Given the description of an element on the screen output the (x, y) to click on. 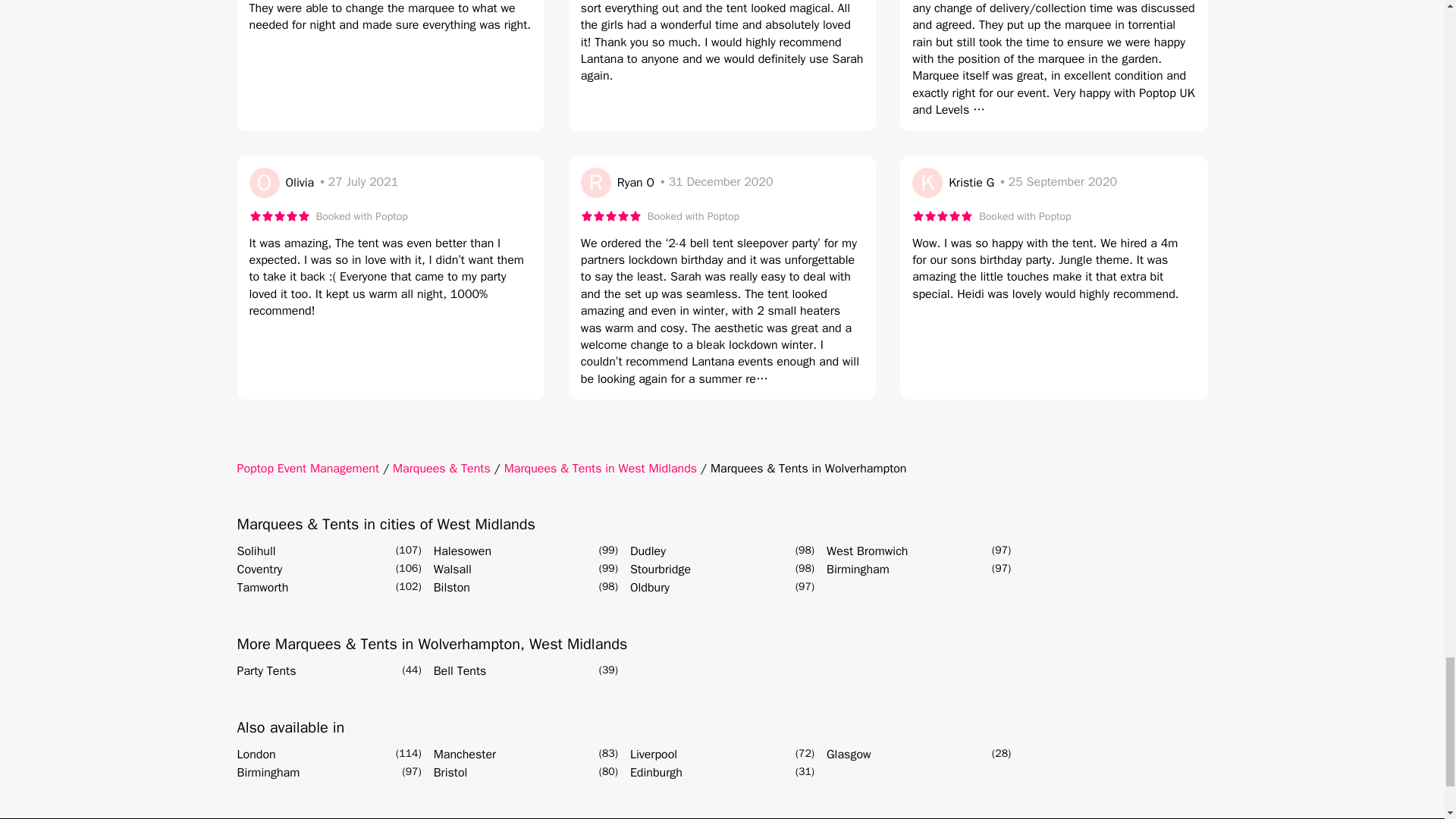
Poptop Event Management (306, 468)
Oldbury (649, 587)
Halesowen (462, 551)
Bristol (450, 772)
London (255, 754)
Edinburgh (656, 772)
Birmingham (858, 569)
Birmingham (267, 772)
Tamworth (261, 587)
Manchester (464, 754)
Bell Tents (459, 670)
Dudley (647, 551)
Bilston (451, 587)
Party Tents (265, 670)
Glasgow (848, 754)
